Given the description of an element on the screen output the (x, y) to click on. 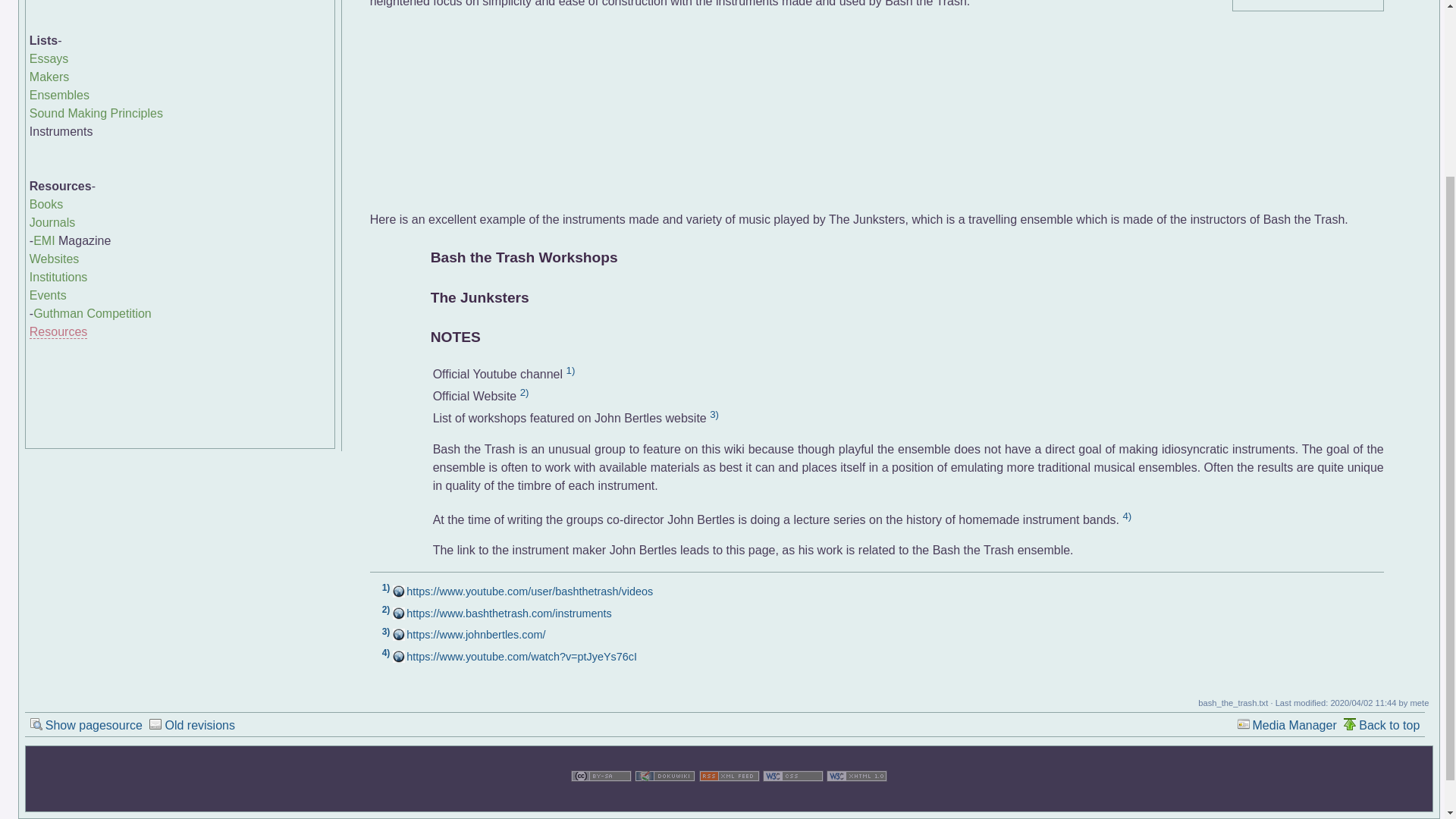
Makers (48, 76)
Events (47, 295)
Journals (52, 222)
makers (48, 76)
Ensembles (58, 94)
Show pagesource (86, 724)
Books (45, 204)
essays (48, 58)
Institutions (58, 277)
Resources (58, 332)
